Given the description of an element on the screen output the (x, y) to click on. 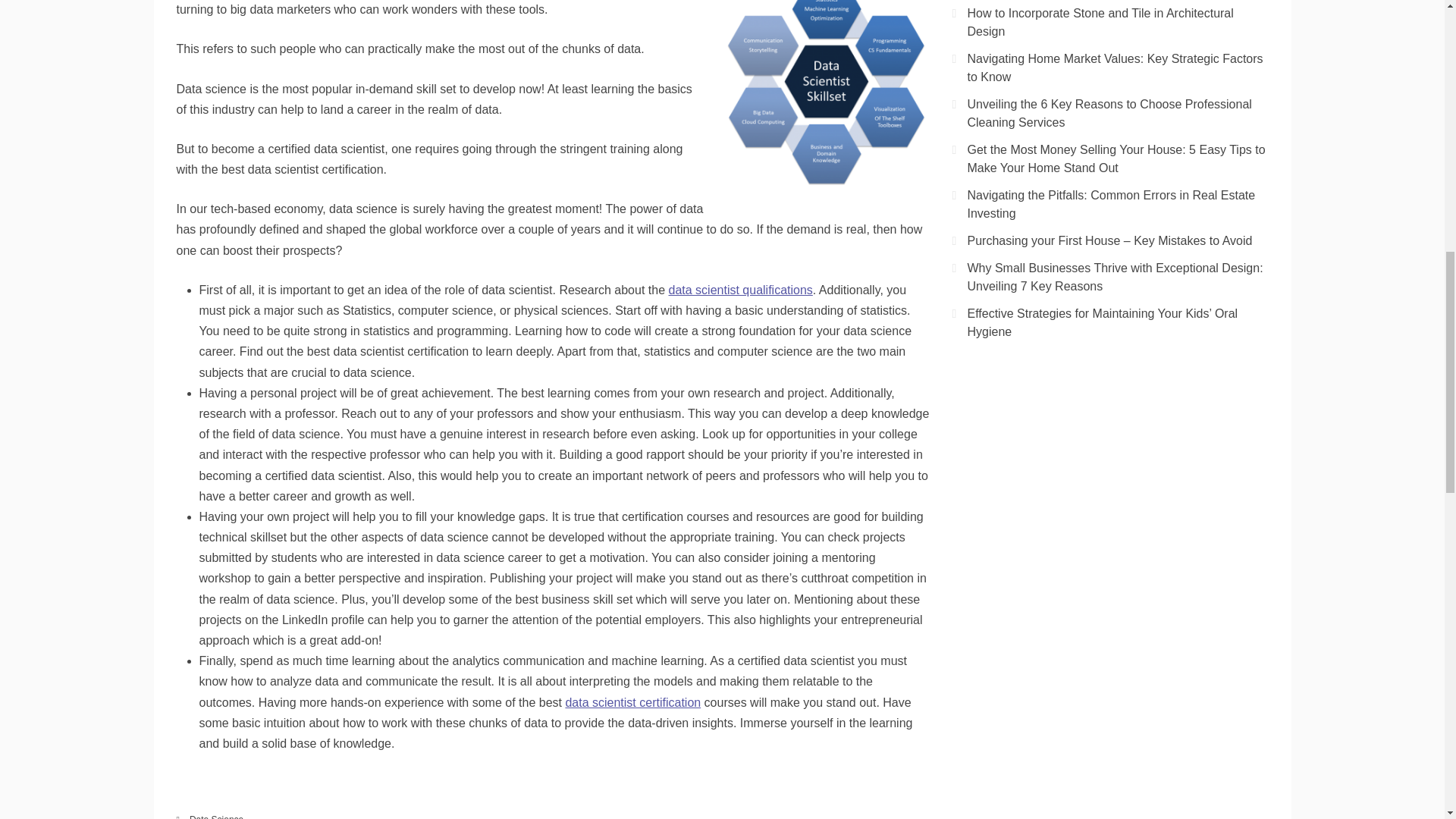
data scientist qualifications (740, 289)
Date Science (216, 816)
data scientist certification (632, 702)
